Given the description of an element on the screen output the (x, y) to click on. 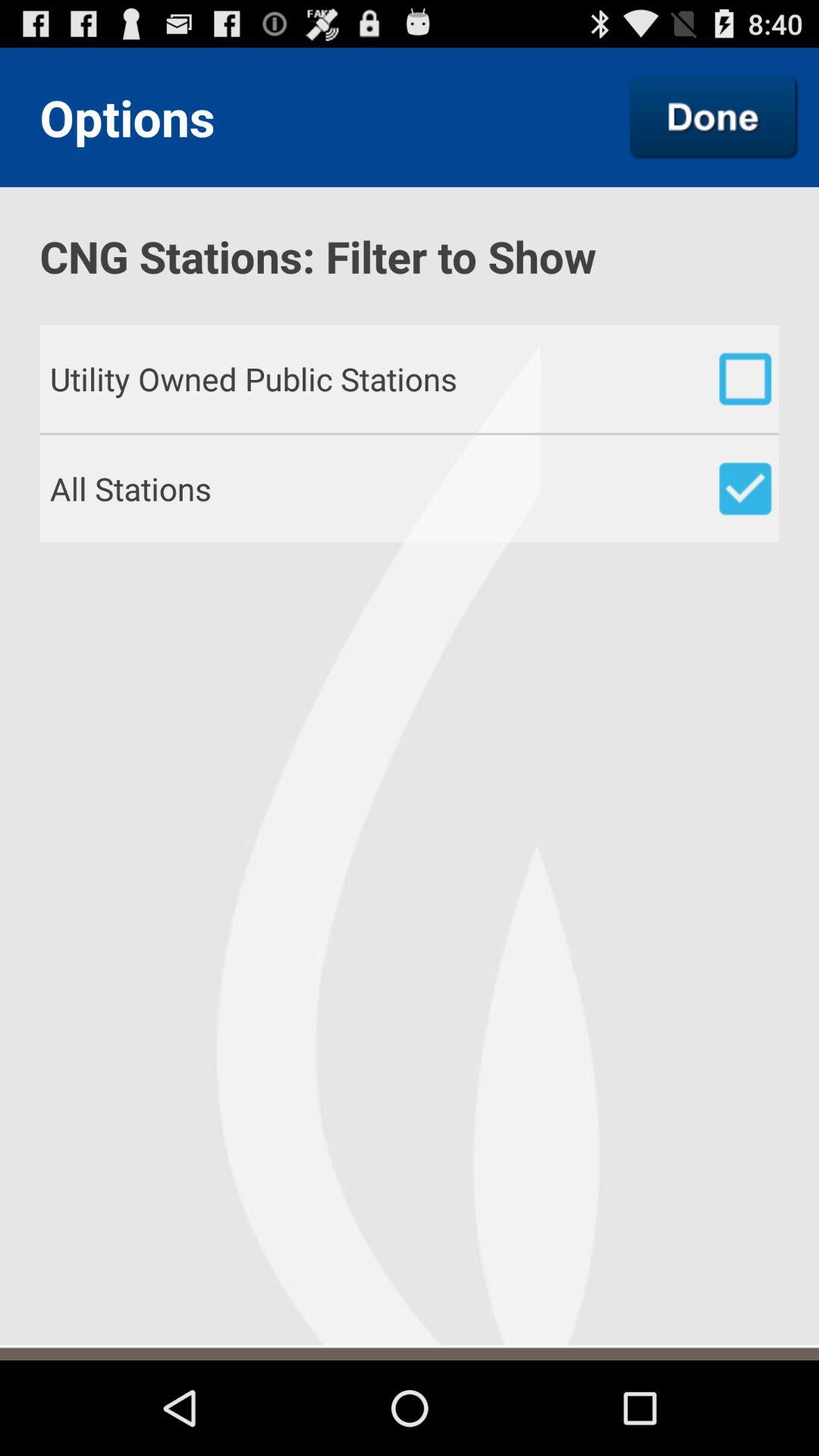
scroll until the all stations (414, 488)
